Given the description of an element on the screen output the (x, y) to click on. 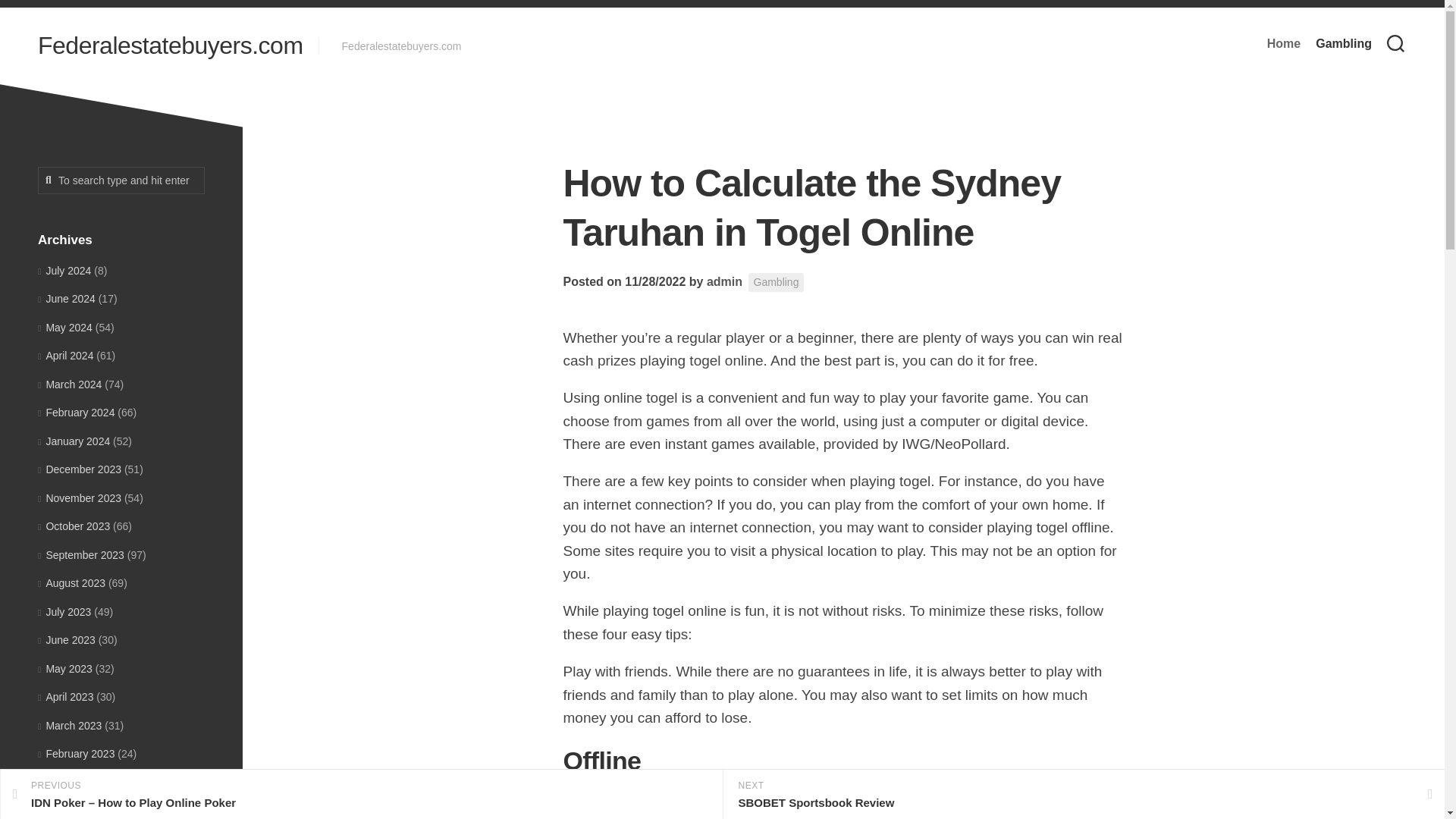
Posts by admin (724, 281)
March 2024 (69, 383)
July 2023 (63, 611)
November 2023 (78, 497)
January 2024 (73, 440)
July 2024 (63, 269)
December 2023 (78, 469)
To search type and hit enter (121, 180)
August 2023 (70, 582)
Gambling (776, 281)
October 2023 (73, 526)
Home (1283, 43)
May 2024 (65, 327)
June 2023 (66, 639)
Gambling (1343, 43)
